Given the description of an element on the screen output the (x, y) to click on. 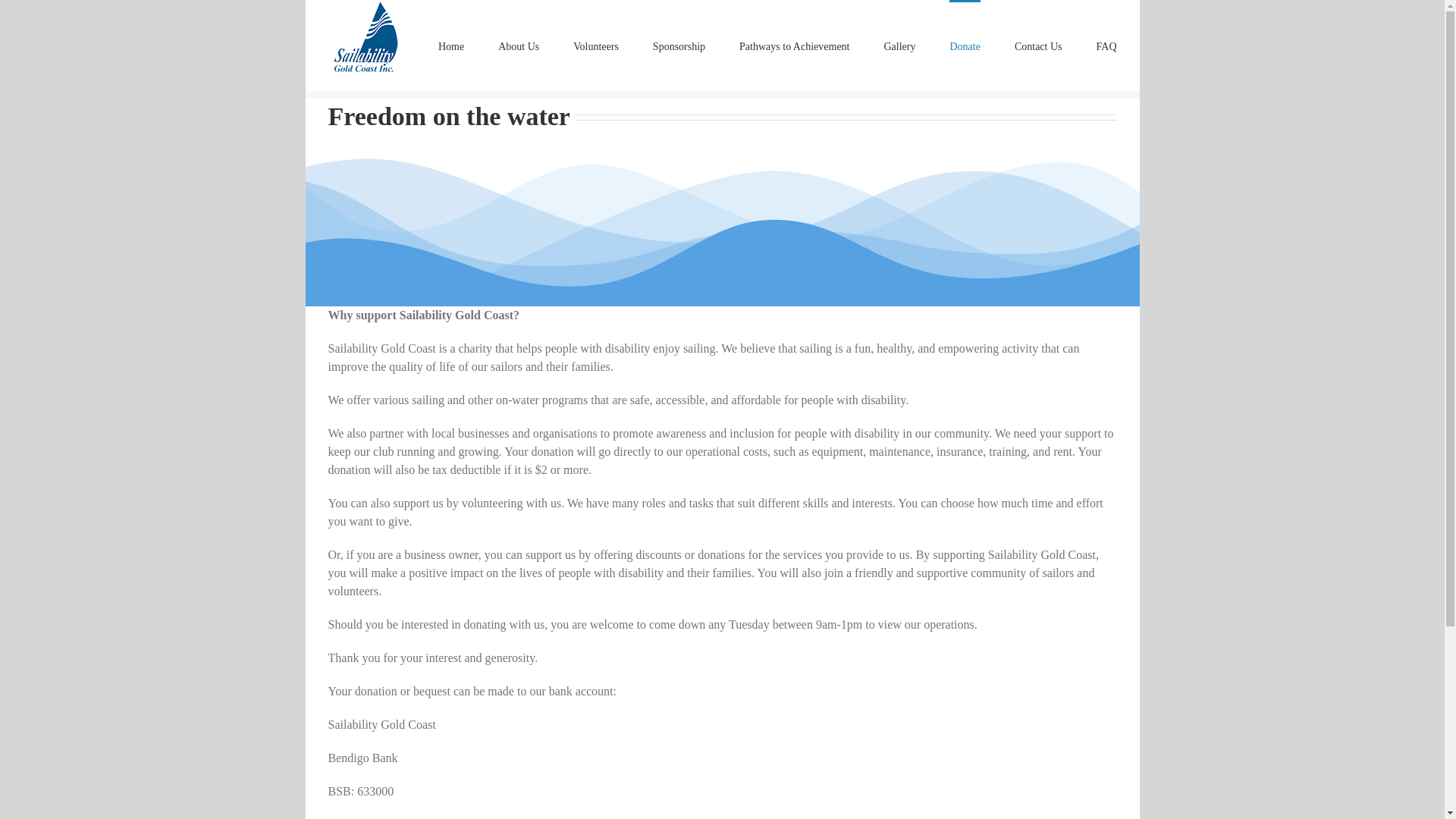
Pathways to Achievement (793, 45)
